Given the description of an element on the screen output the (x, y) to click on. 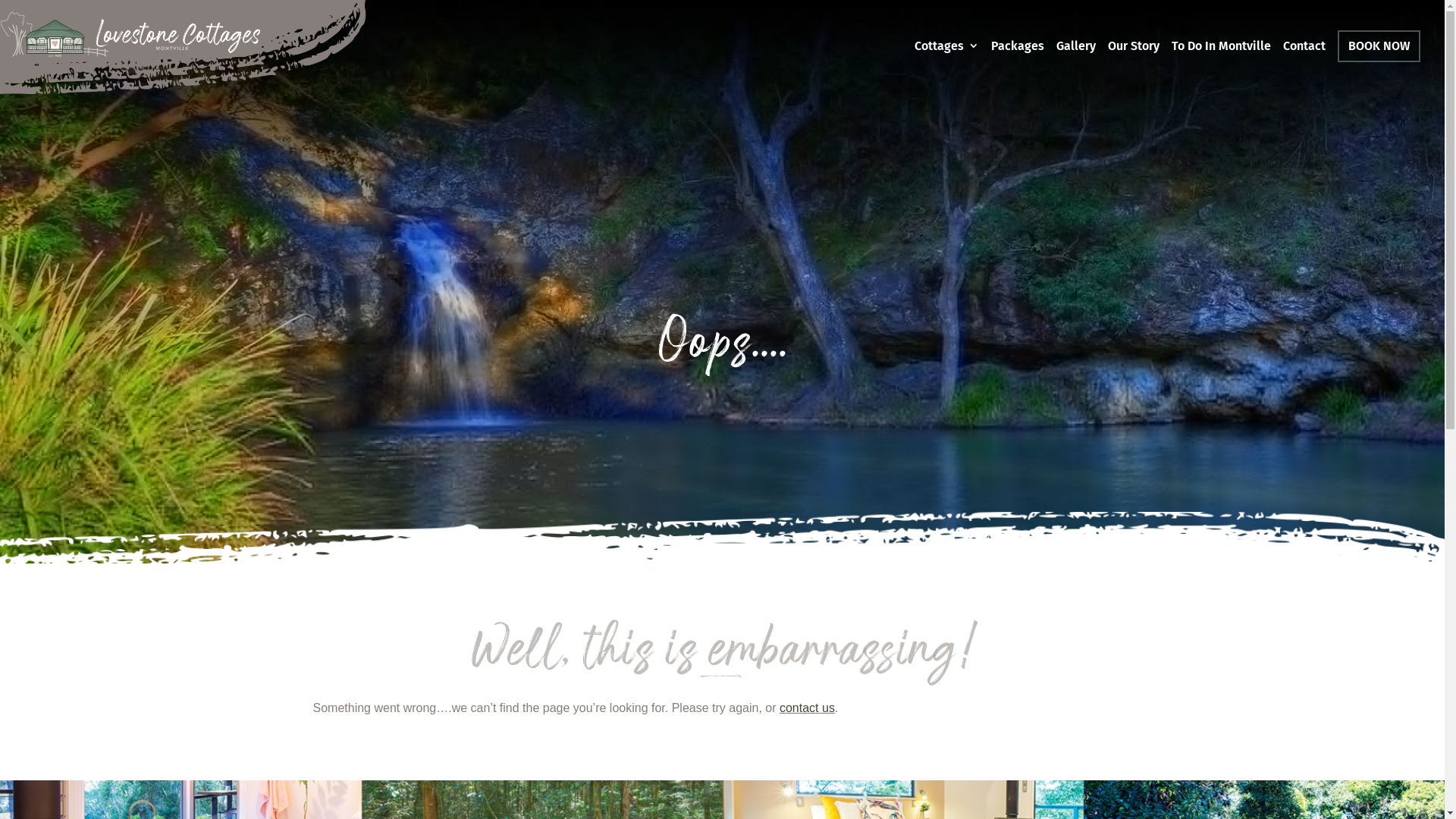
Cottages Element type: text (946, 69)
To Do In Montville Element type: text (1220, 69)
Gallery Element type: text (1075, 69)
Our Story Element type: text (1133, 69)
Packages Element type: text (1017, 69)
Contact Element type: text (1304, 69)
Oops.... Element type: text (722, 338)
contact us Element type: text (806, 707)
BOOK NOW Element type: text (1378, 46)
